Given the description of an element on the screen output the (x, y) to click on. 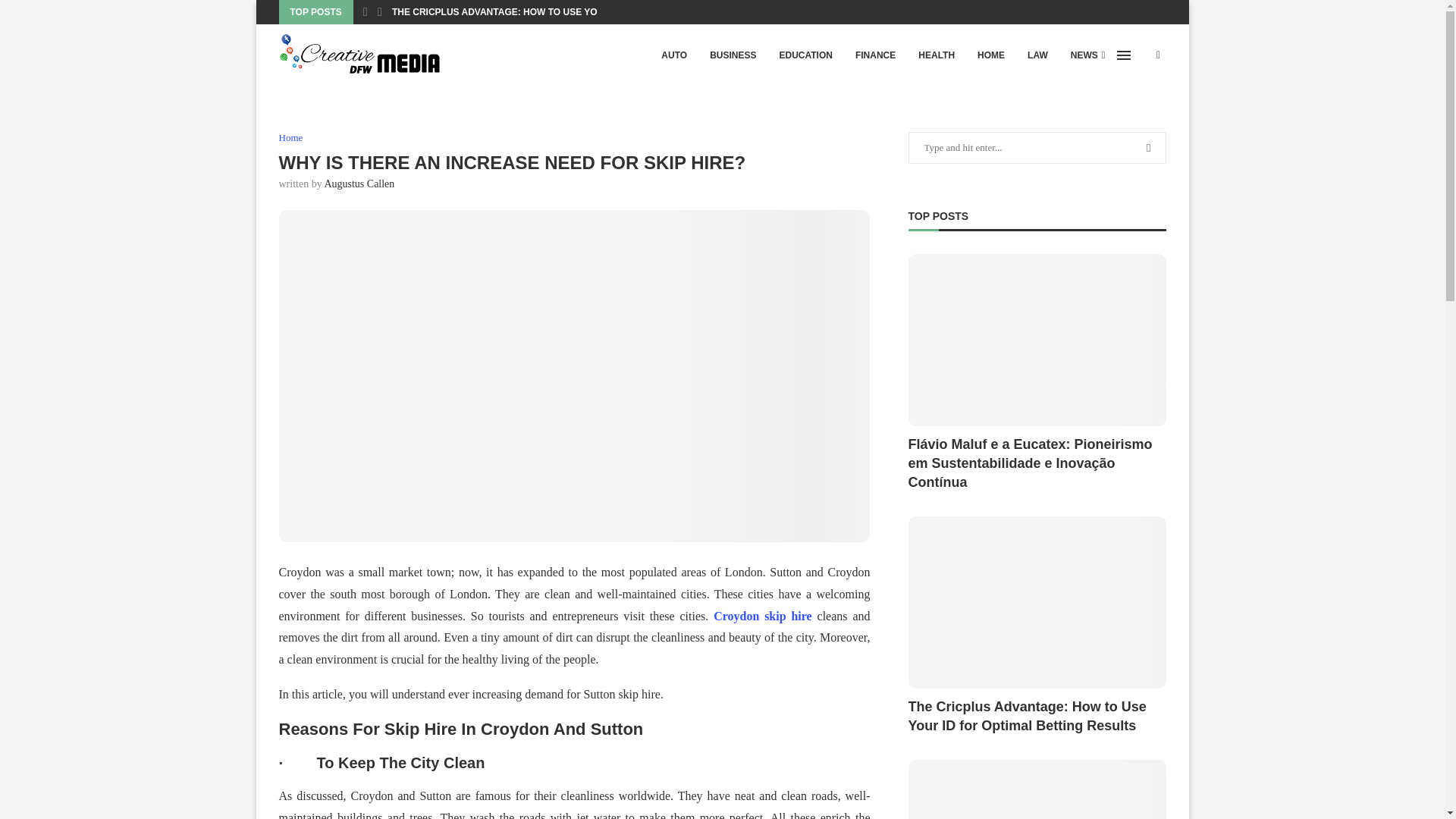
Home (290, 137)
THE CRICPLUS ADVANTAGE: HOW TO USE YOUR ID... (509, 12)
